Given the description of an element on the screen output the (x, y) to click on. 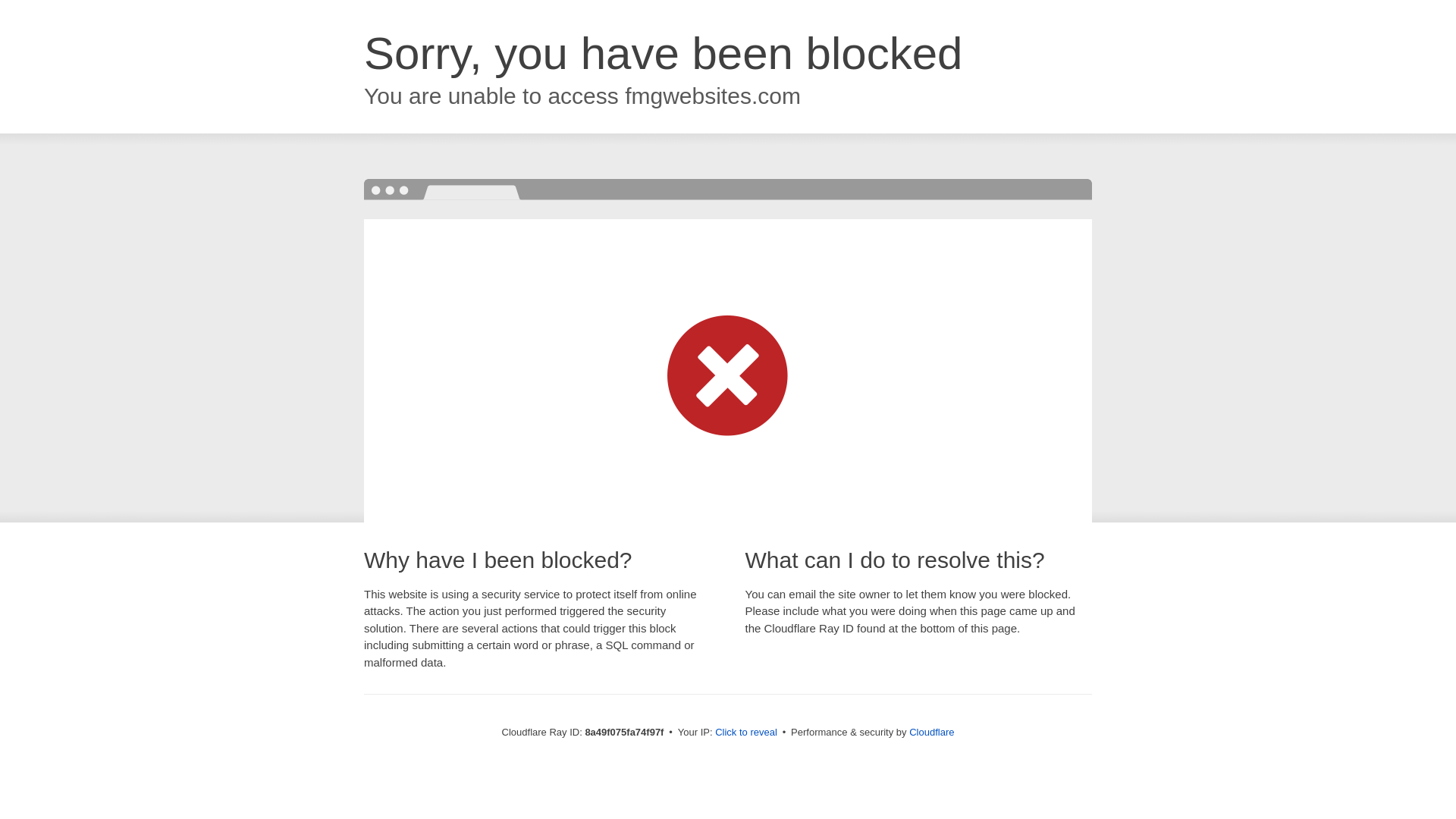
Cloudflare (930, 731)
Click to reveal (745, 732)
